Given the description of an element on the screen output the (x, y) to click on. 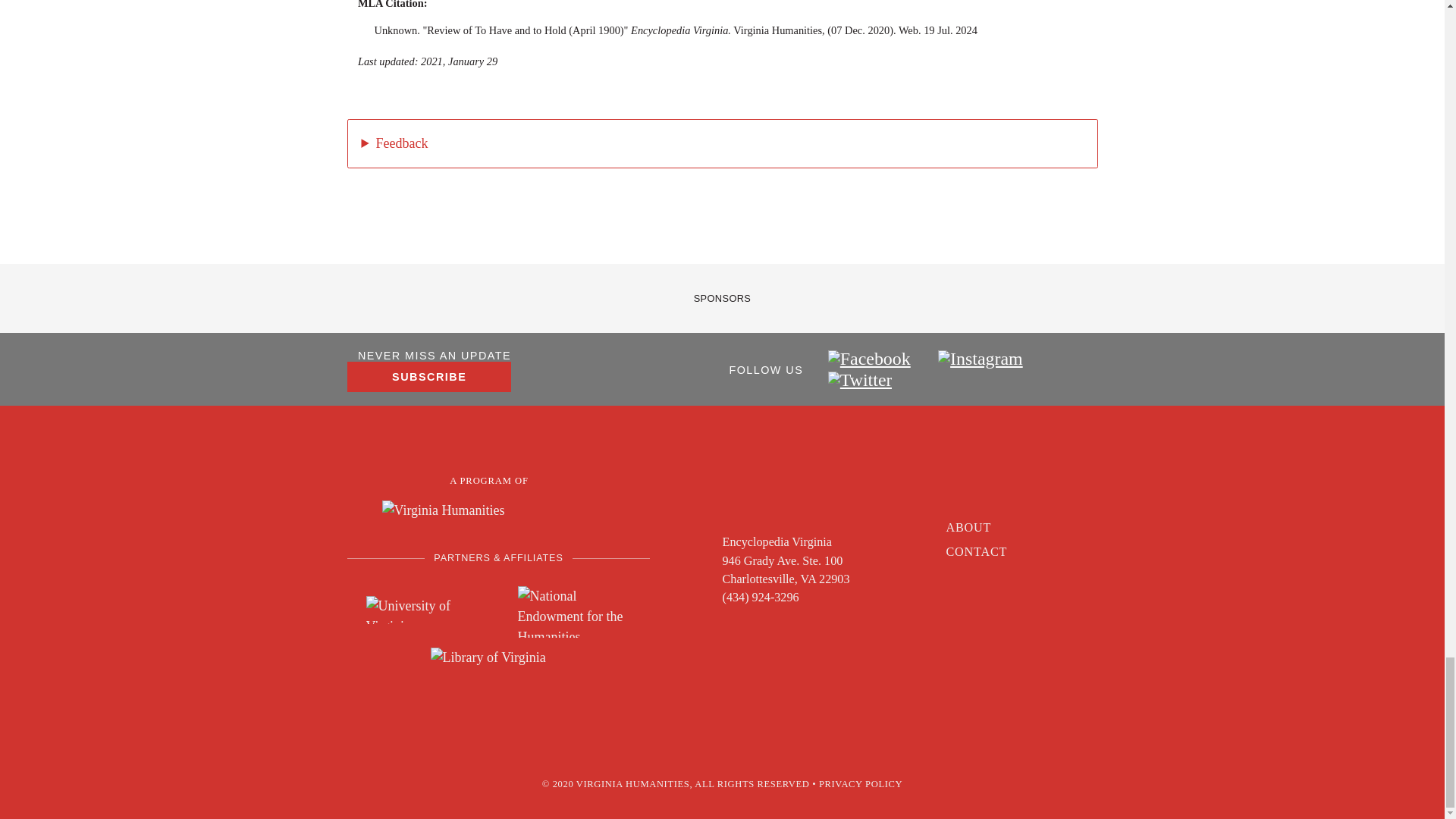
Submit (396, 596)
